Given the description of an element on the screen output the (x, y) to click on. 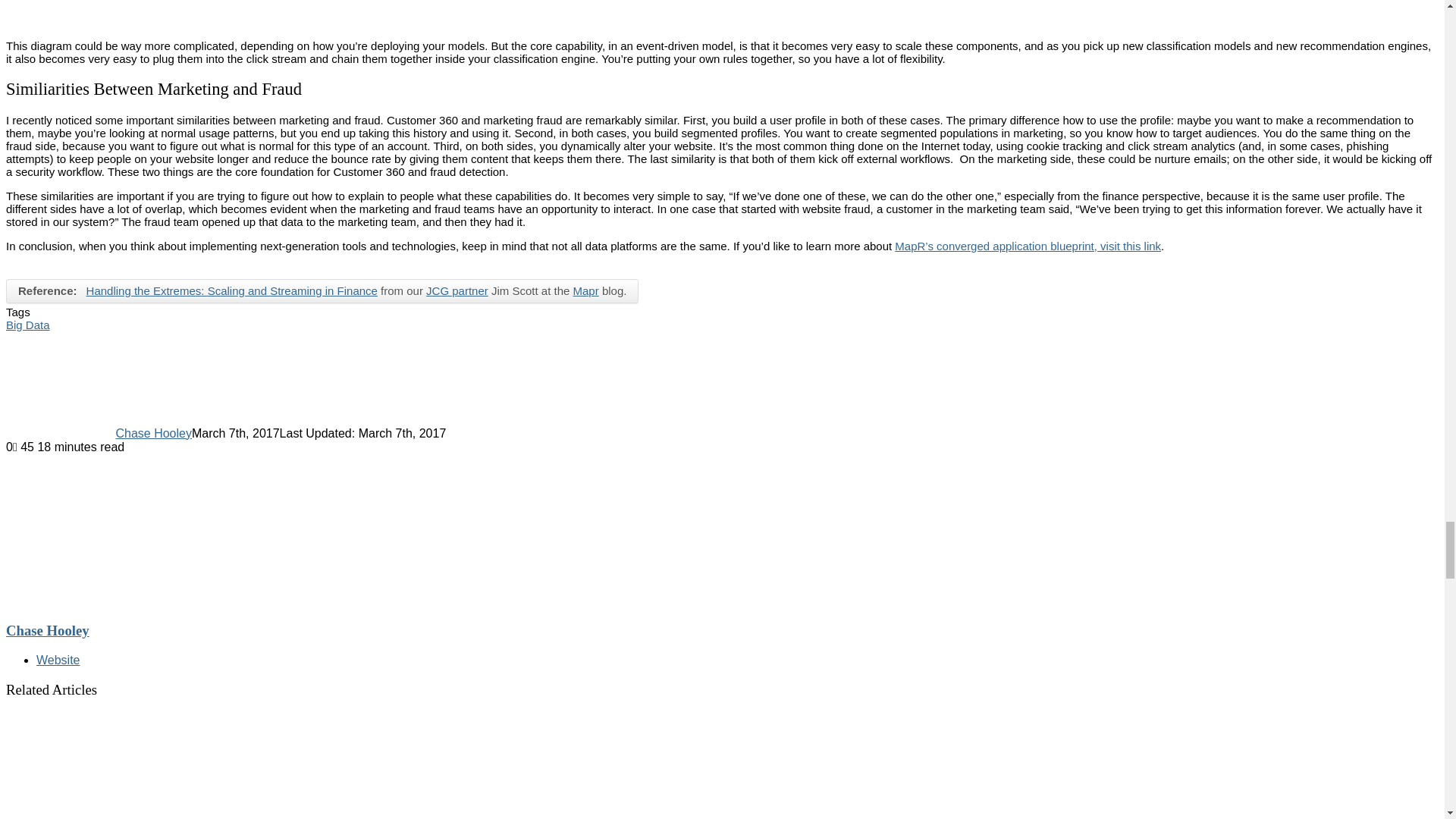
Chase Hooley (153, 432)
